Given the description of an element on the screen output the (x, y) to click on. 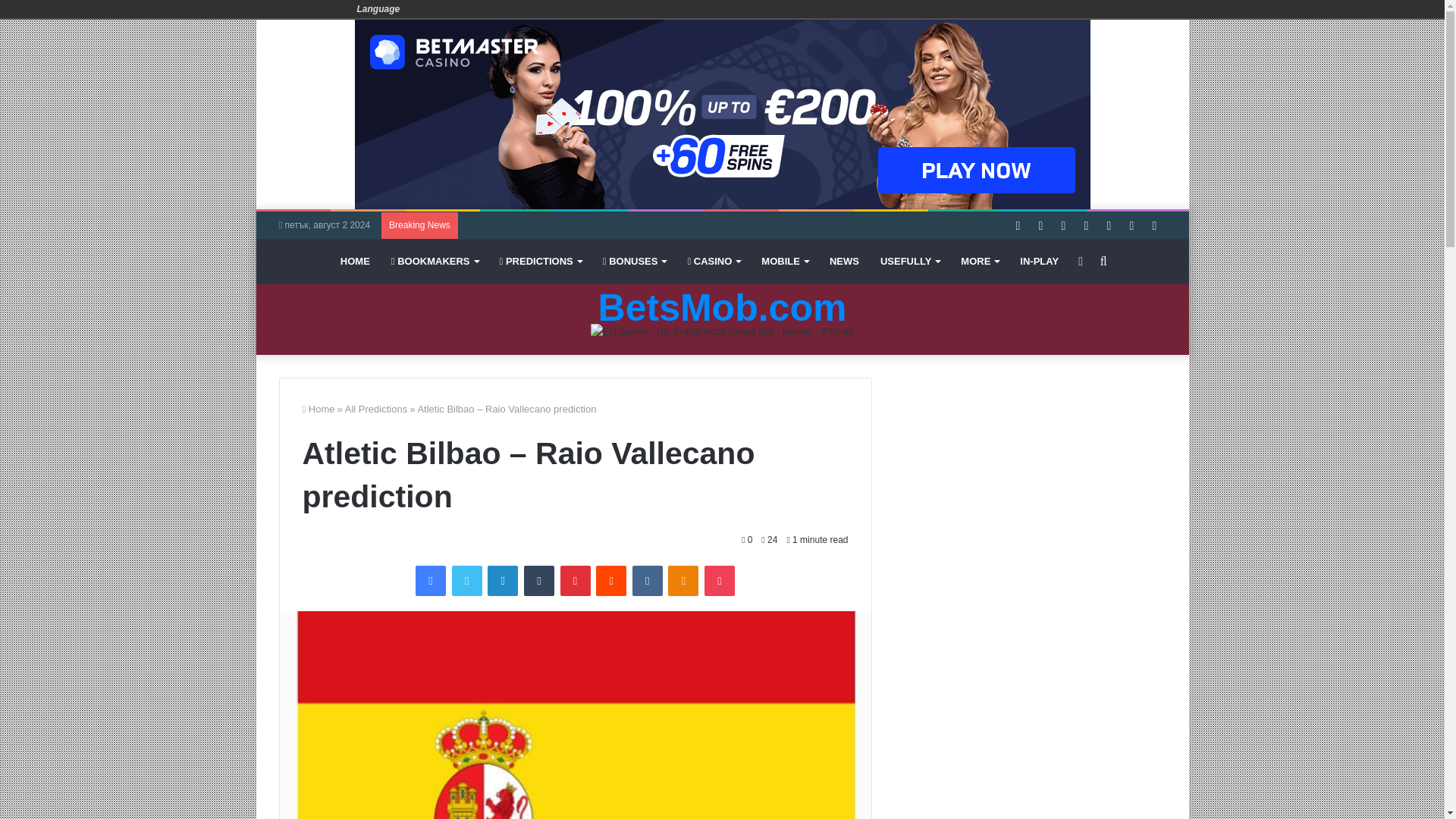
VKontakte (646, 580)
Pinterest (574, 580)
Pocket (719, 580)
LinkedIn (502, 580)
Tumblr (539, 580)
Reddit (610, 580)
Facebook (429, 580)
PREDICTIONS (540, 261)
BOOKMAKERS (434, 261)
BetsMob.com (722, 307)
